Given the description of an element on the screen output the (x, y) to click on. 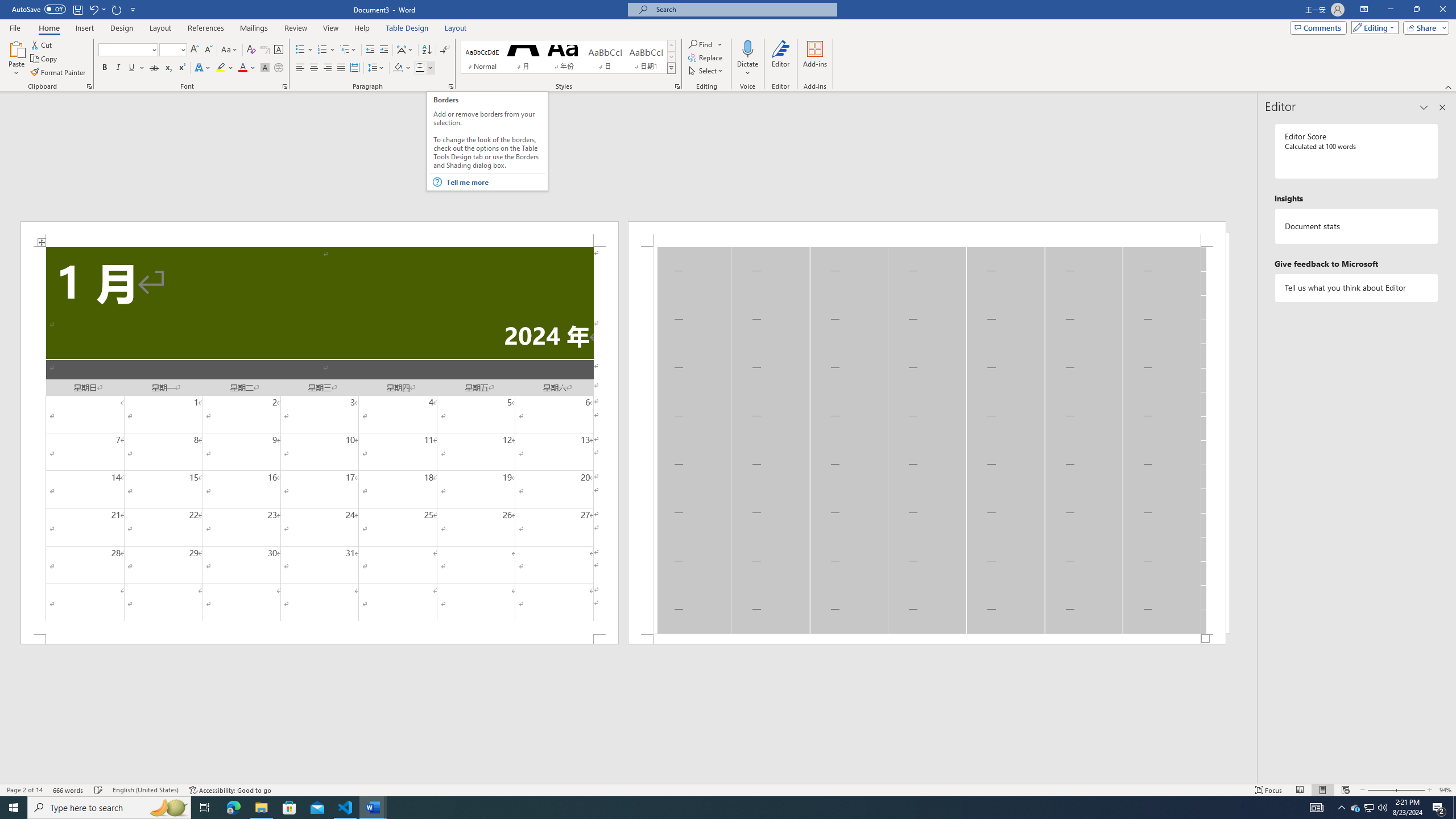
Align Left (300, 67)
Undo Apply Quick Style (92, 9)
Page 2 content (926, 439)
Multilevel List (347, 49)
Superscript (180, 67)
Clear Formatting (250, 49)
Distributed (354, 67)
Document statistics (1356, 226)
Shading (402, 67)
